Given the description of an element on the screen output the (x, y) to click on. 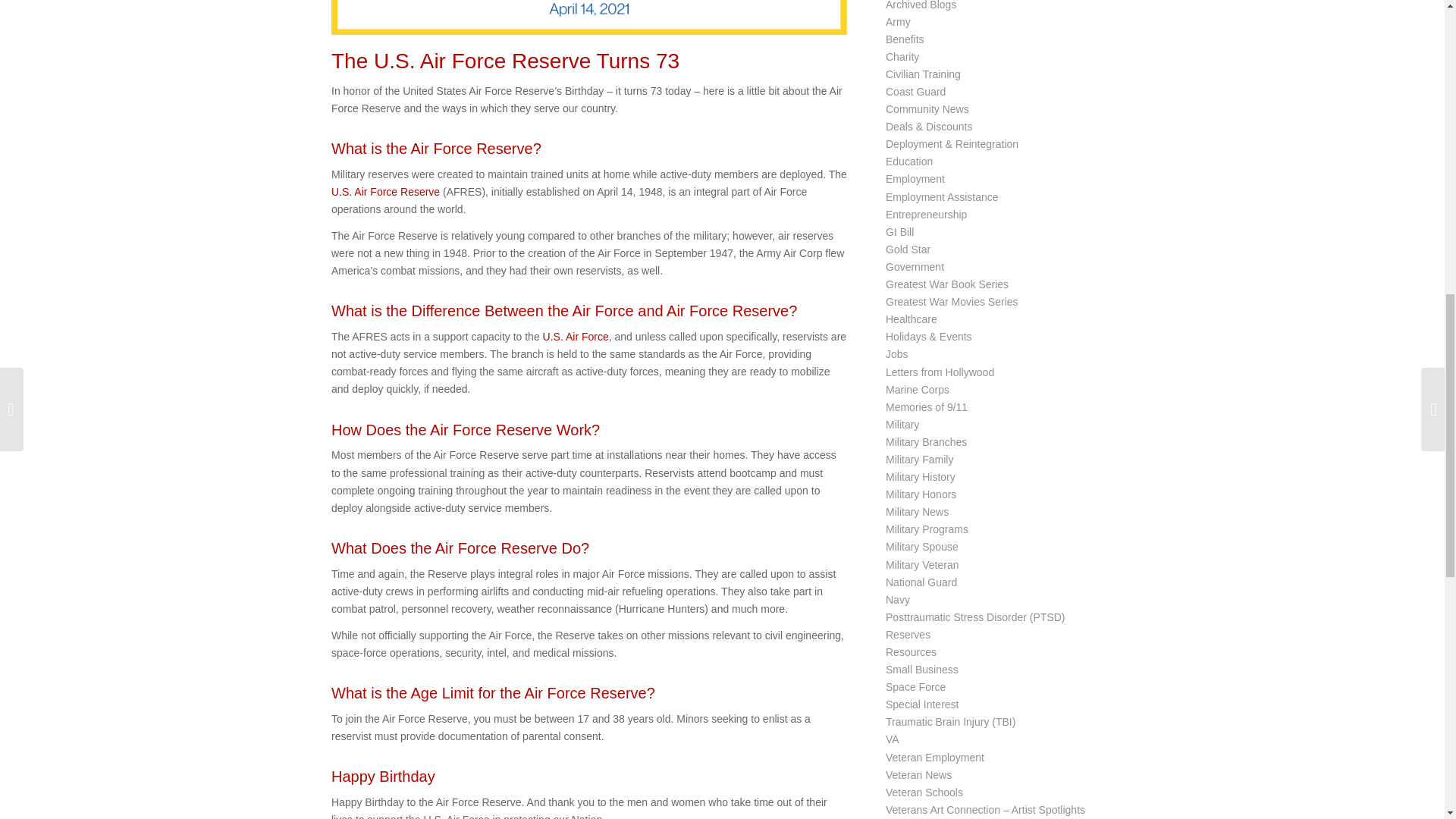
Coast Guard (914, 91)
U.S. Air Force Reserve (385, 191)
Archived Blogs (920, 5)
Civilian Training (922, 73)
Community News (927, 109)
U.S. Air Force (575, 336)
Charity (901, 56)
Benefits (904, 39)
Army (898, 21)
